Given the description of an element on the screen output the (x, y) to click on. 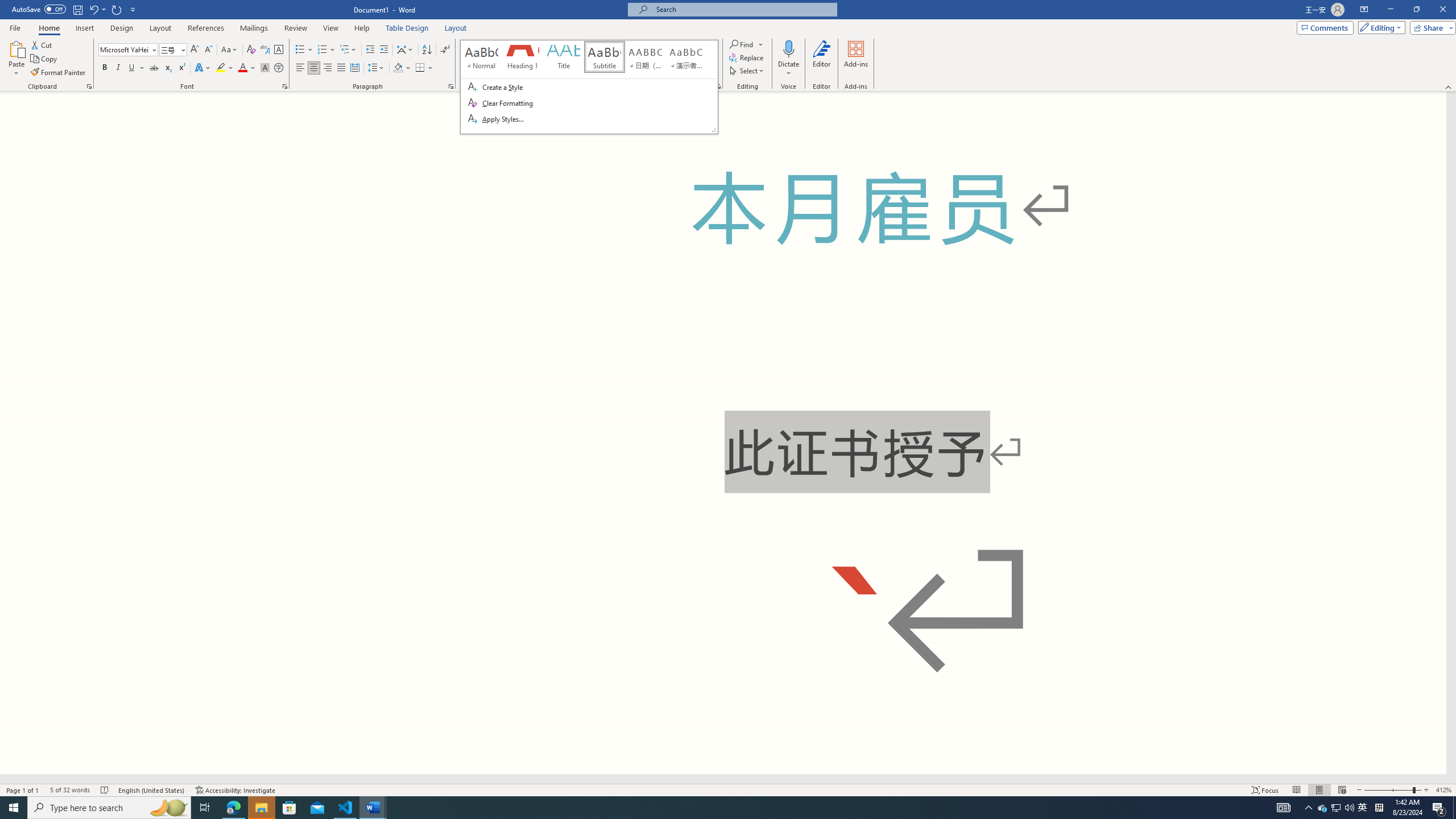
Class: Net UI Tool Window (588, 87)
